Given the description of an element on the screen output the (x, y) to click on. 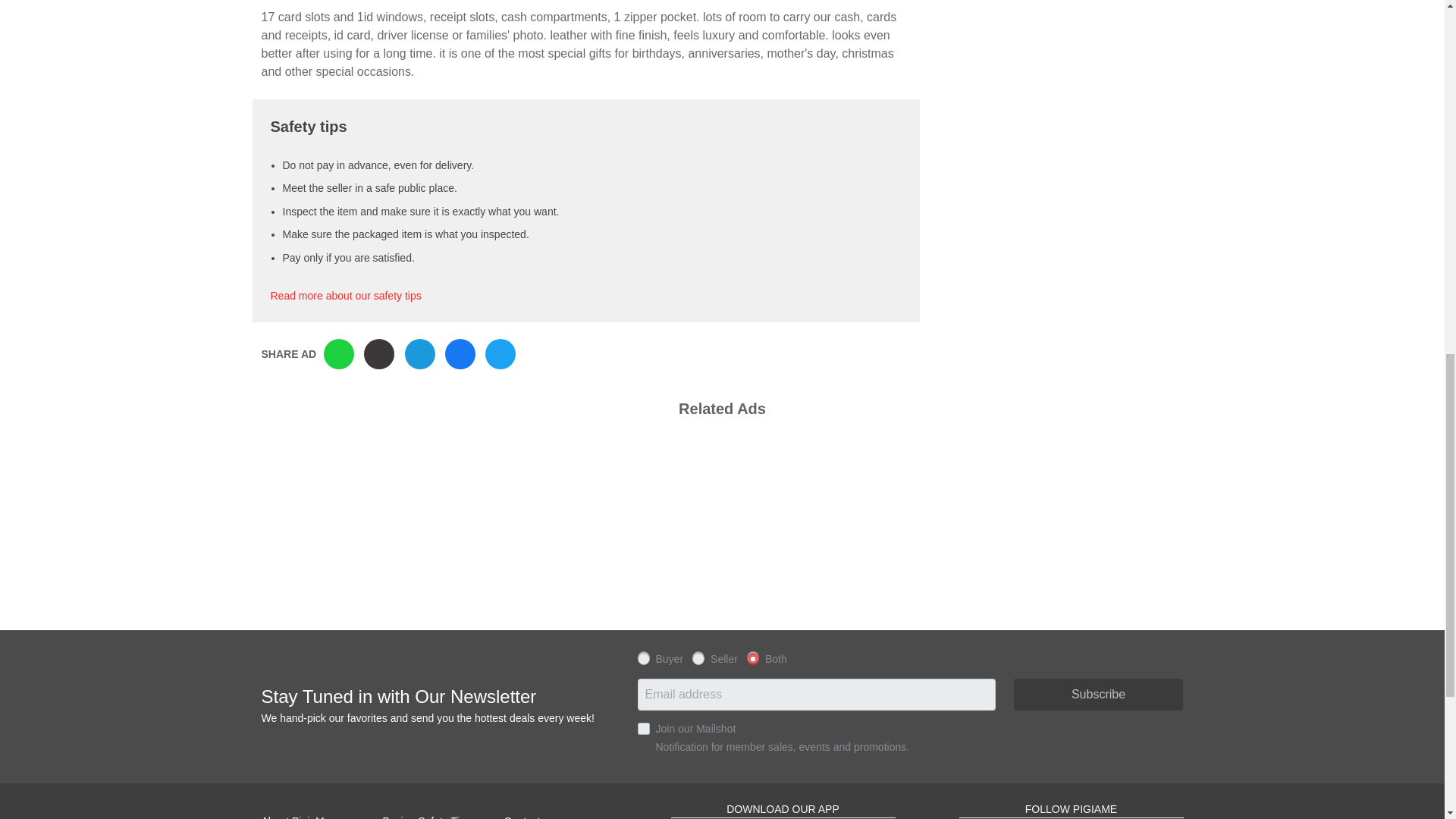
Read more about our safety tips (344, 295)
Share via Email (419, 354)
Share via WhatsApp (338, 354)
Share via Twitter (499, 354)
Share via Facebook (460, 354)
Copy link (379, 354)
